Given the description of an element on the screen output the (x, y) to click on. 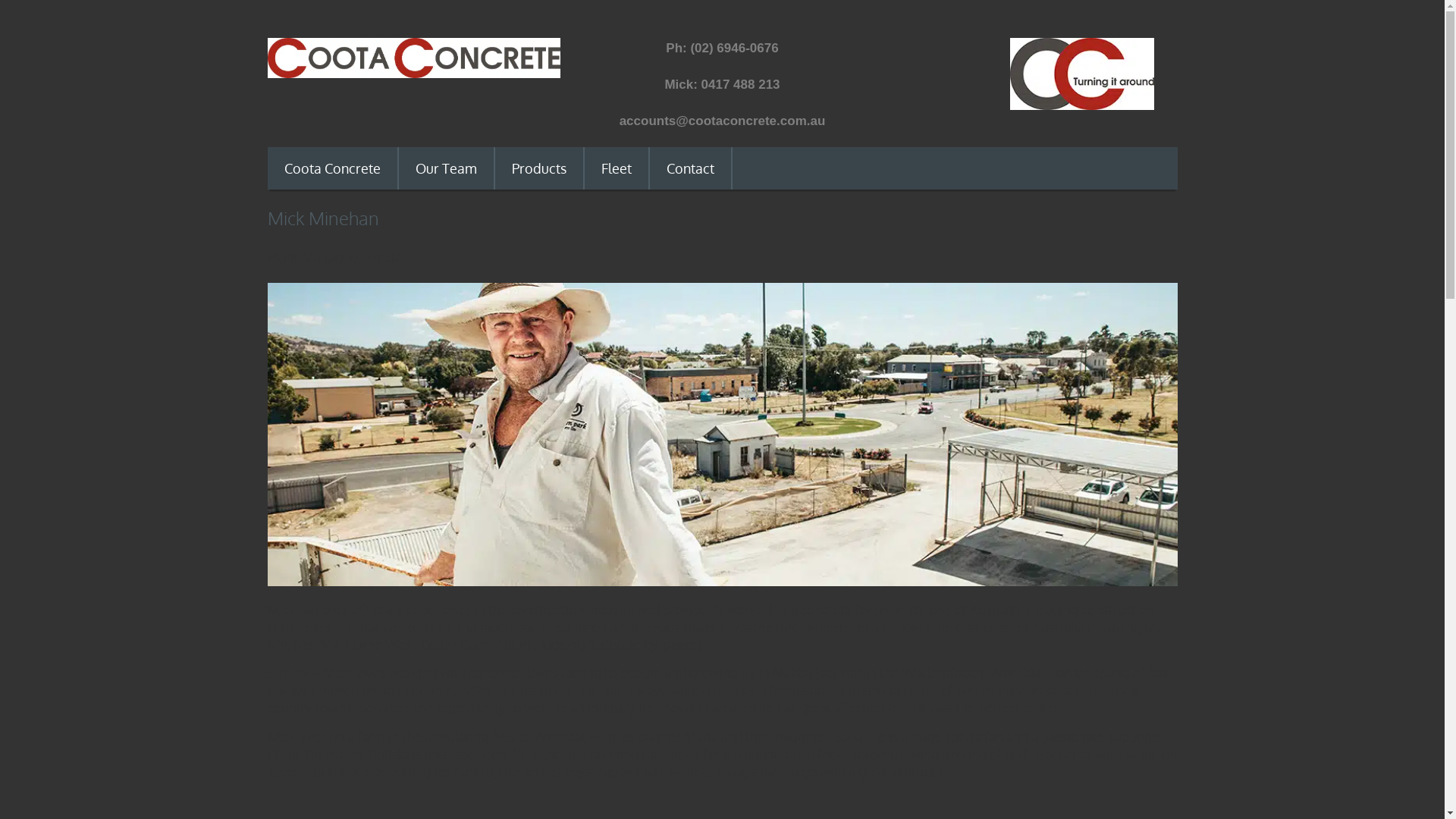
Mick: 0417 488 213 Element type: text (721, 84)
Contact Element type: text (690, 168)
Ph: (02) 6946-0676 Element type: text (721, 47)
Coota Concrete Element type: text (331, 168)
accounts@cootaconcrete.com.au Element type: text (722, 120)
Our Team Element type: text (445, 168)
Fleet Element type: text (615, 168)
Products Element type: text (538, 168)
